Given the description of an element on the screen output the (x, y) to click on. 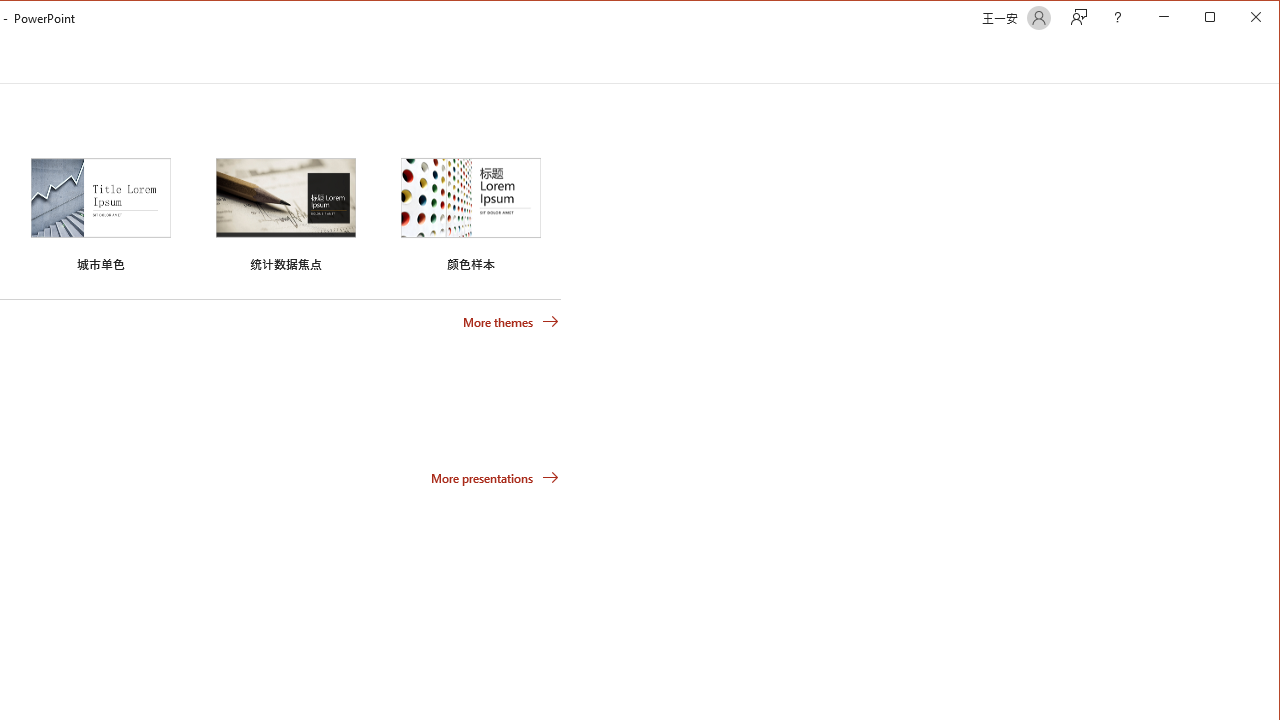
Class: NetUIScrollBar (1270, 60)
Maximize (1238, 18)
More presentations (494, 478)
More themes (510, 321)
